Given the description of an element on the screen output the (x, y) to click on. 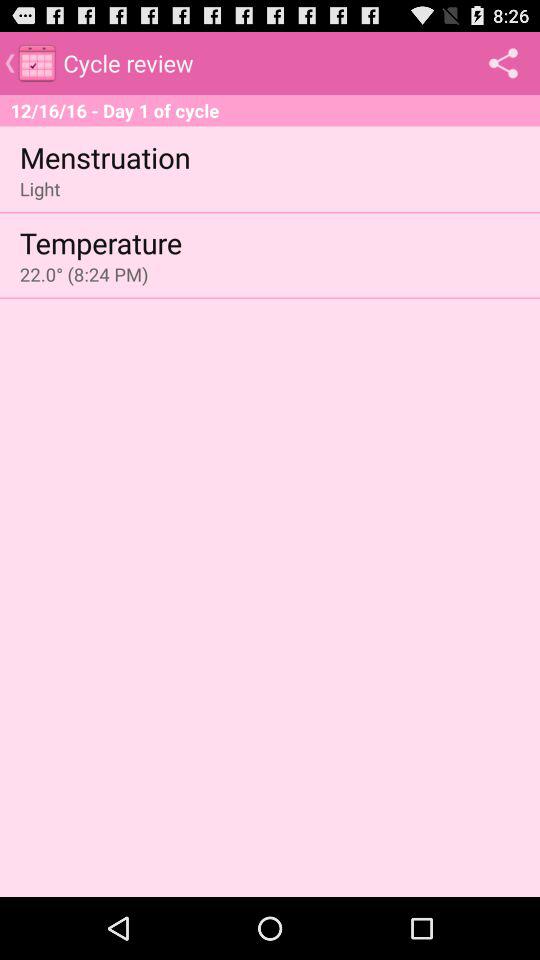
select item below the 12 16 16 item (104, 156)
